Given the description of an element on the screen output the (x, y) to click on. 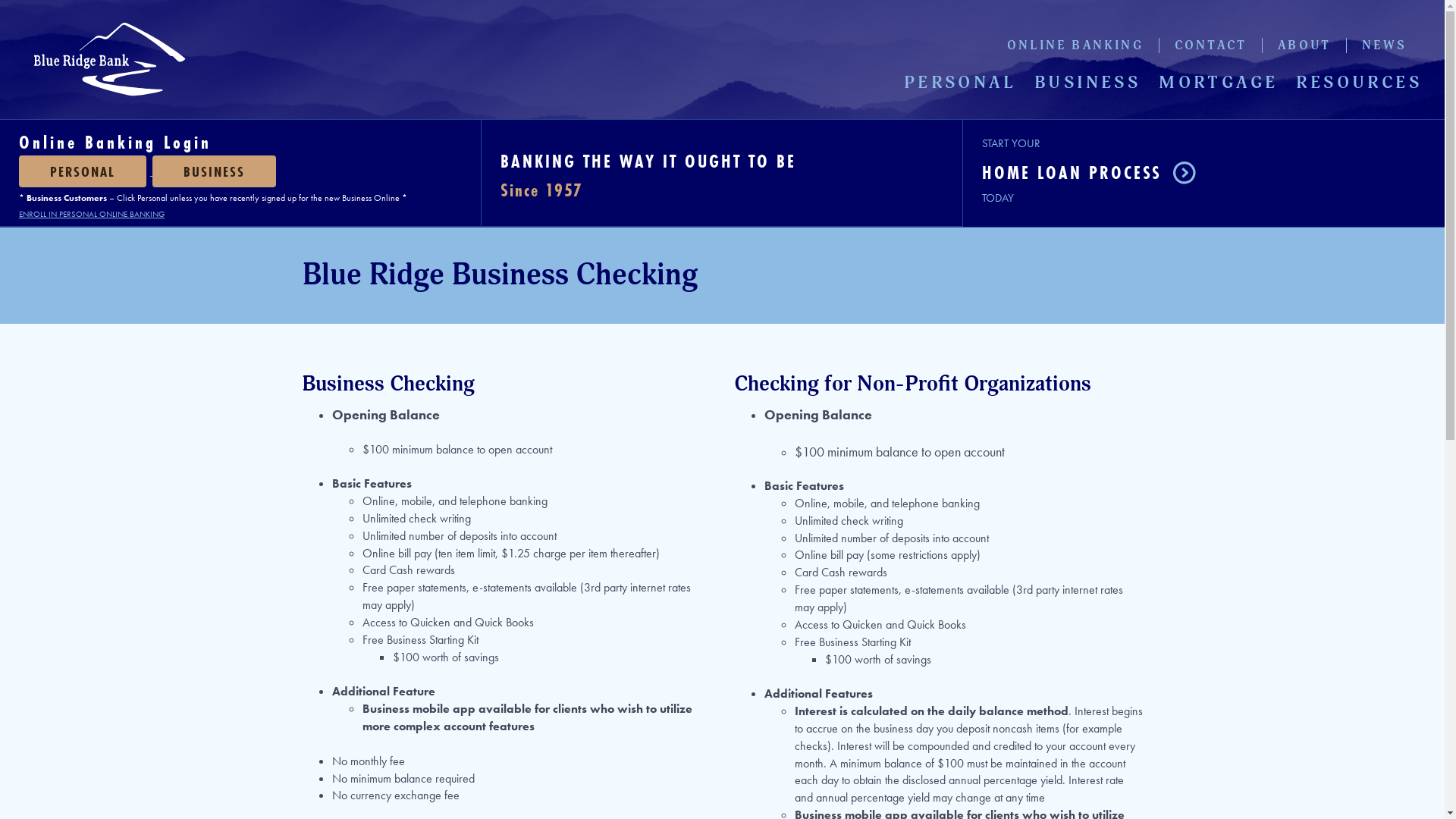
ABOUT Element type: text (1304, 45)
BUSINESS Element type: text (1087, 83)
MORTGAGE Element type: text (1217, 83)
NEWS Element type: text (1383, 45)
PERSONAL Element type: text (82, 171)
CONTACT Element type: text (1210, 45)
BUSINESS Element type: text (214, 171)
PERSONAL Element type: text (85, 171)
RESOURCES Element type: text (1353, 83)
ONLINE BANKING Element type: text (1074, 45)
BUSINESS Element type: text (229, 171)
START YOUR
HOME LOAN PROCESS
TODAY Element type: text (1088, 172)
ENROLL IN PERSONAL ONLINE BANKING Element type: text (91, 213)
PERSONAL Element type: text (959, 83)
